Given the description of an element on the screen output the (x, y) to click on. 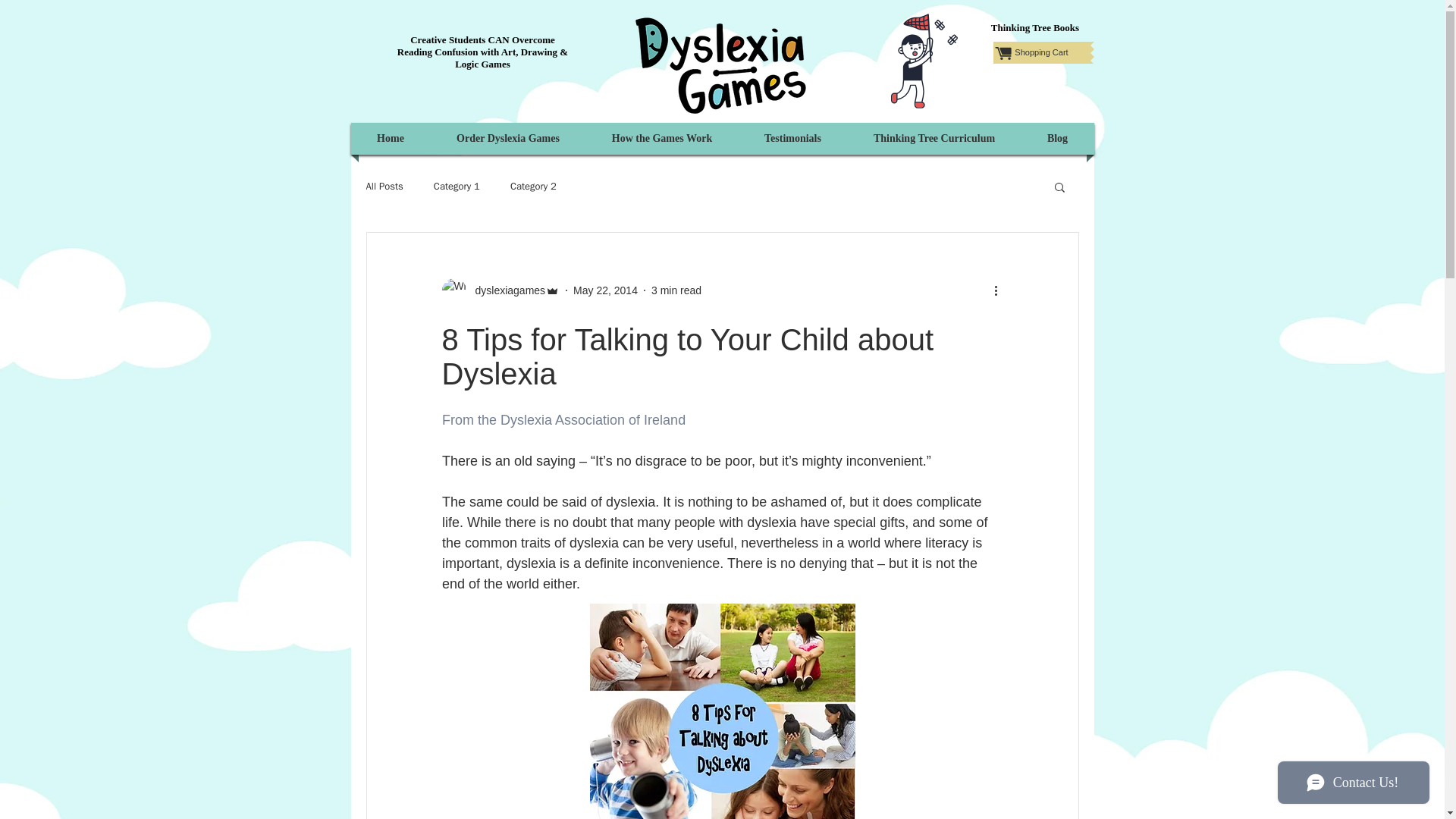
Testimonials (792, 138)
Shopping Cart (1041, 52)
Blog (1057, 138)
Category 2 (533, 186)
Category 1 (456, 186)
Home (390, 138)
All Posts (384, 186)
DYSLEXIA GAMES LOGO EDITED 300PX (721, 65)
May 22, 2014 (605, 289)
How the Games Work (662, 138)
3 min read (675, 289)
From the Dyslexia Association of Ireland (562, 419)
Thinking Tree Curriculum (933, 138)
Order Dyslexia Games (506, 138)
dyslexiagames (500, 290)
